Given the description of an element on the screen output the (x, y) to click on. 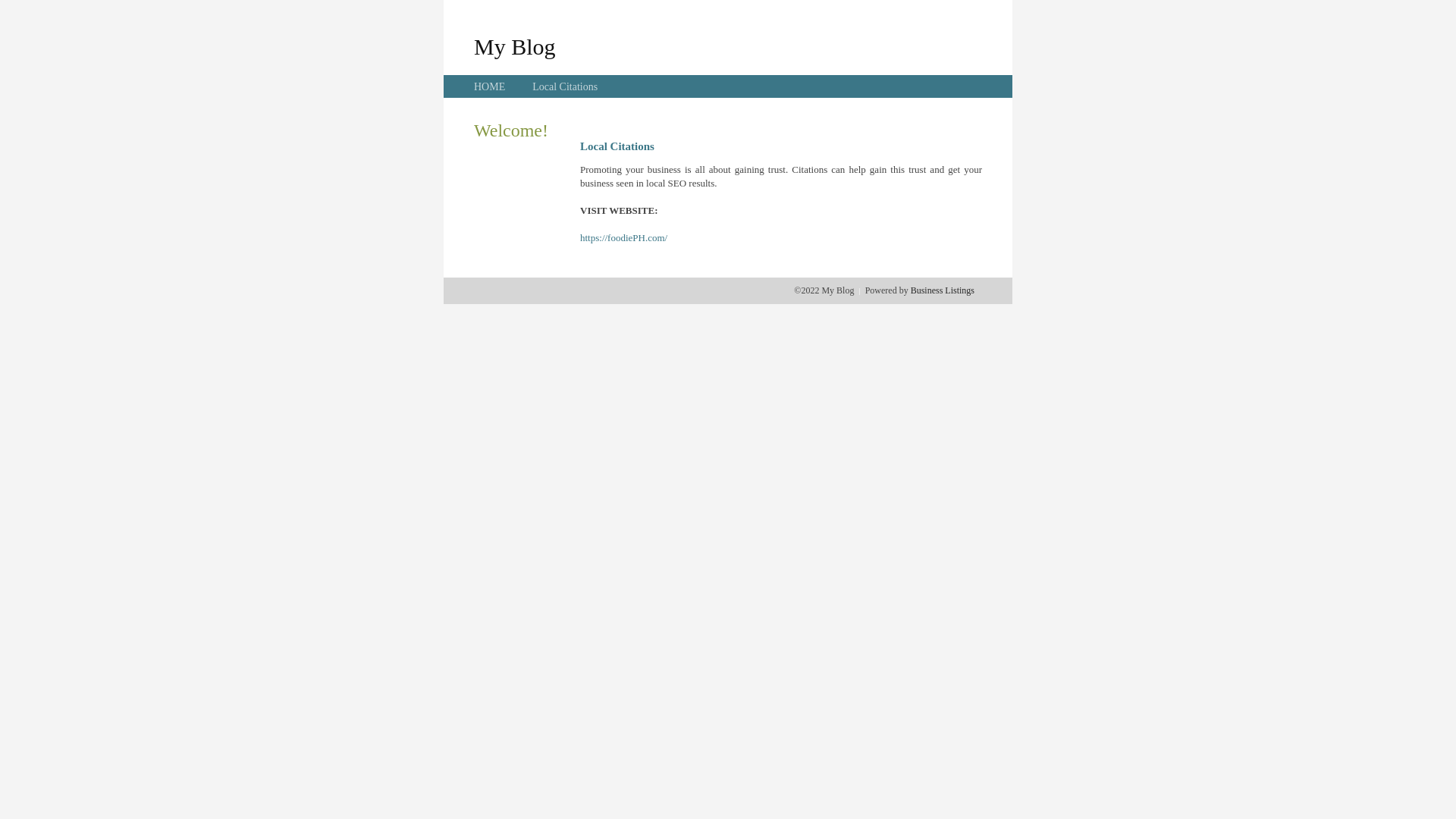
Local Citations Element type: text (564, 86)
HOME Element type: text (489, 86)
My Blog Element type: text (514, 46)
Business Listings Element type: text (942, 290)
https://foodiePH.com/ Element type: text (623, 237)
